Given the description of an element on the screen output the (x, y) to click on. 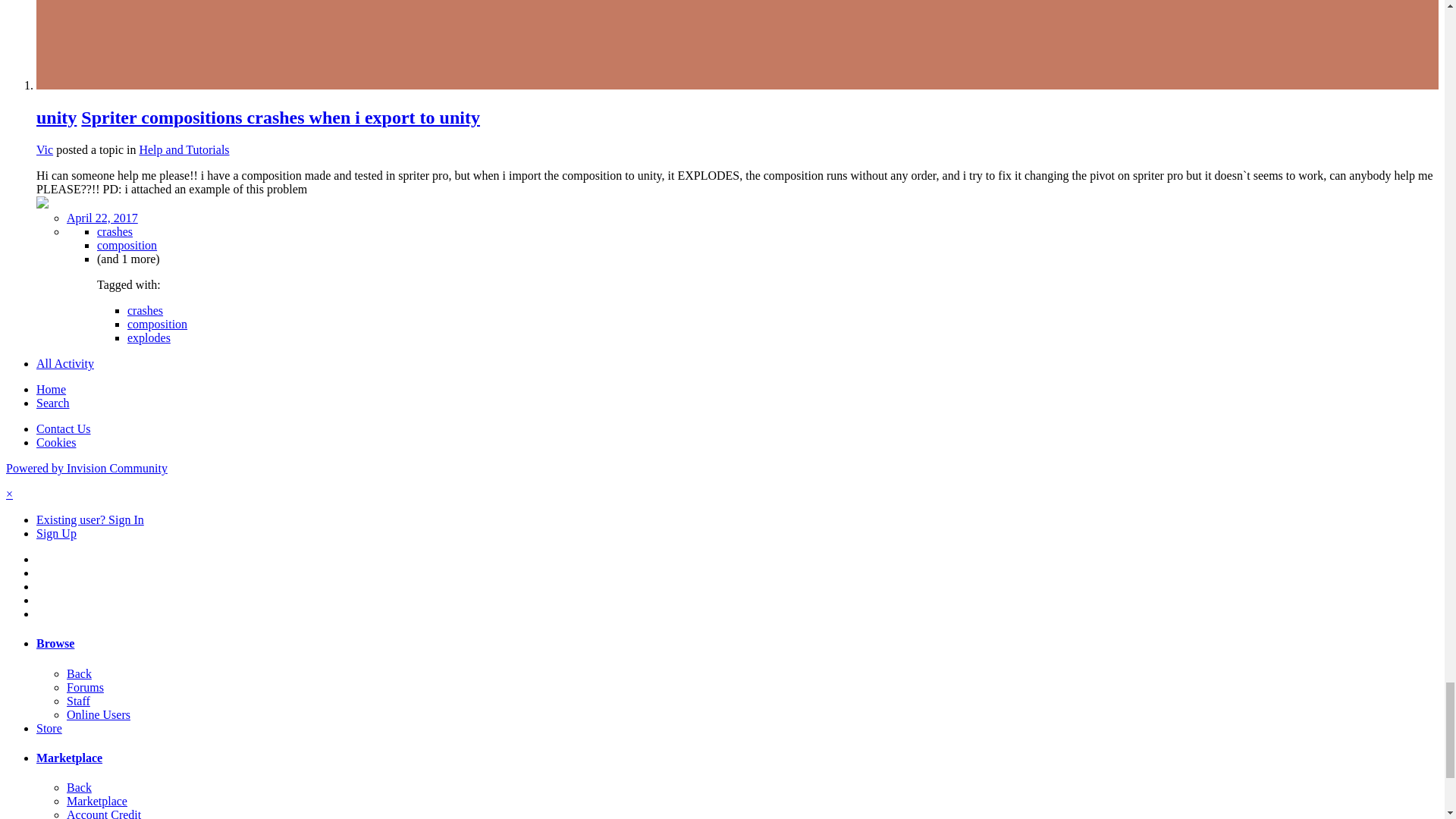
Find other content tagged with 'composition' (127, 245)
Find other content tagged with 'explodes' (149, 337)
Find other content tagged with 'unity' (56, 117)
Home (50, 389)
Find other content tagged with 'composition' (157, 323)
Find other content tagged with 'crashes' (114, 231)
Find other content tagged with 'crashes' (145, 309)
Go to Vic's profile (44, 149)
Invision Community (86, 468)
